Given the description of an element on the screen output the (x, y) to click on. 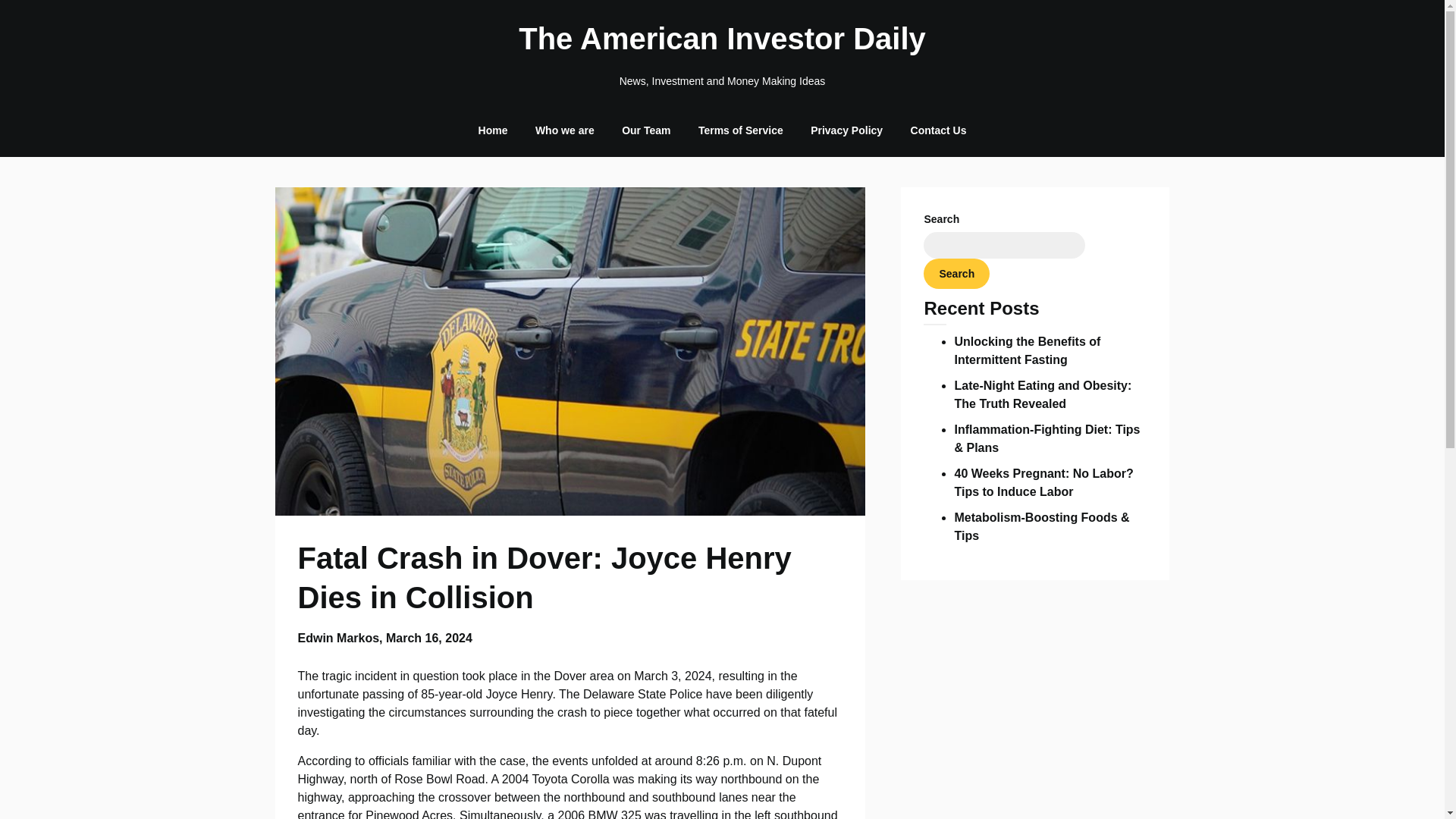
Who we are (564, 130)
Privacy Policy (846, 130)
Our Team (646, 130)
Contact Us (938, 130)
Terms of Service (739, 130)
Search (956, 273)
Unlocking the Benefits of Intermittent Fasting (1026, 350)
40 Weeks Pregnant: No Labor? Tips to Induce Labor (1042, 481)
Late-Night Eating and Obesity: The Truth Revealed (1042, 394)
Home (492, 130)
The American Investor Daily (722, 38)
March 16, 2024 (428, 637)
